Given the description of an element on the screen output the (x, y) to click on. 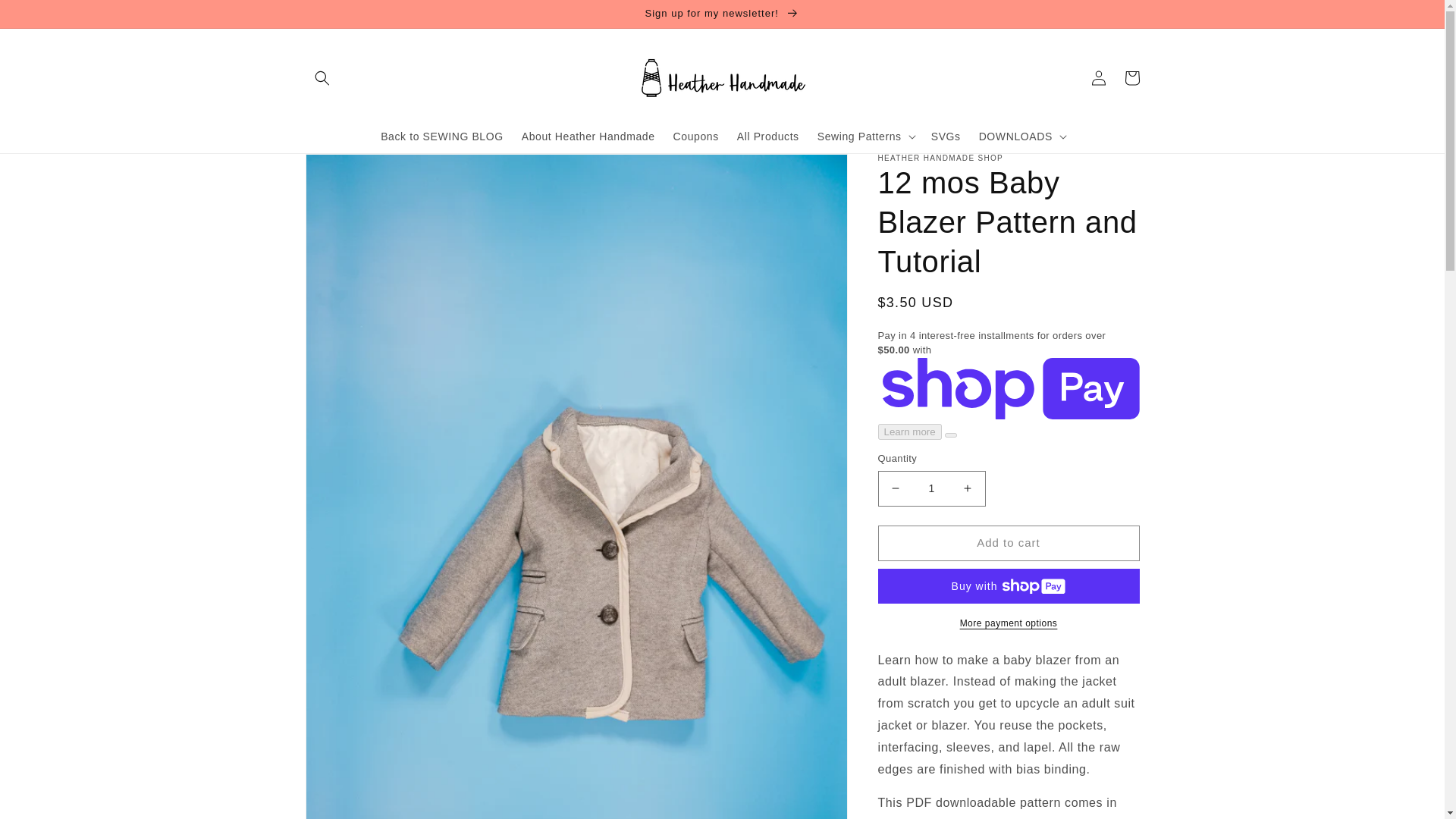
Back to SEWING BLOG (441, 136)
About Heather Handmade (587, 136)
Skip to content (45, 17)
Coupons (695, 136)
1 (931, 488)
All Products (768, 136)
